Given the description of an element on the screen output the (x, y) to click on. 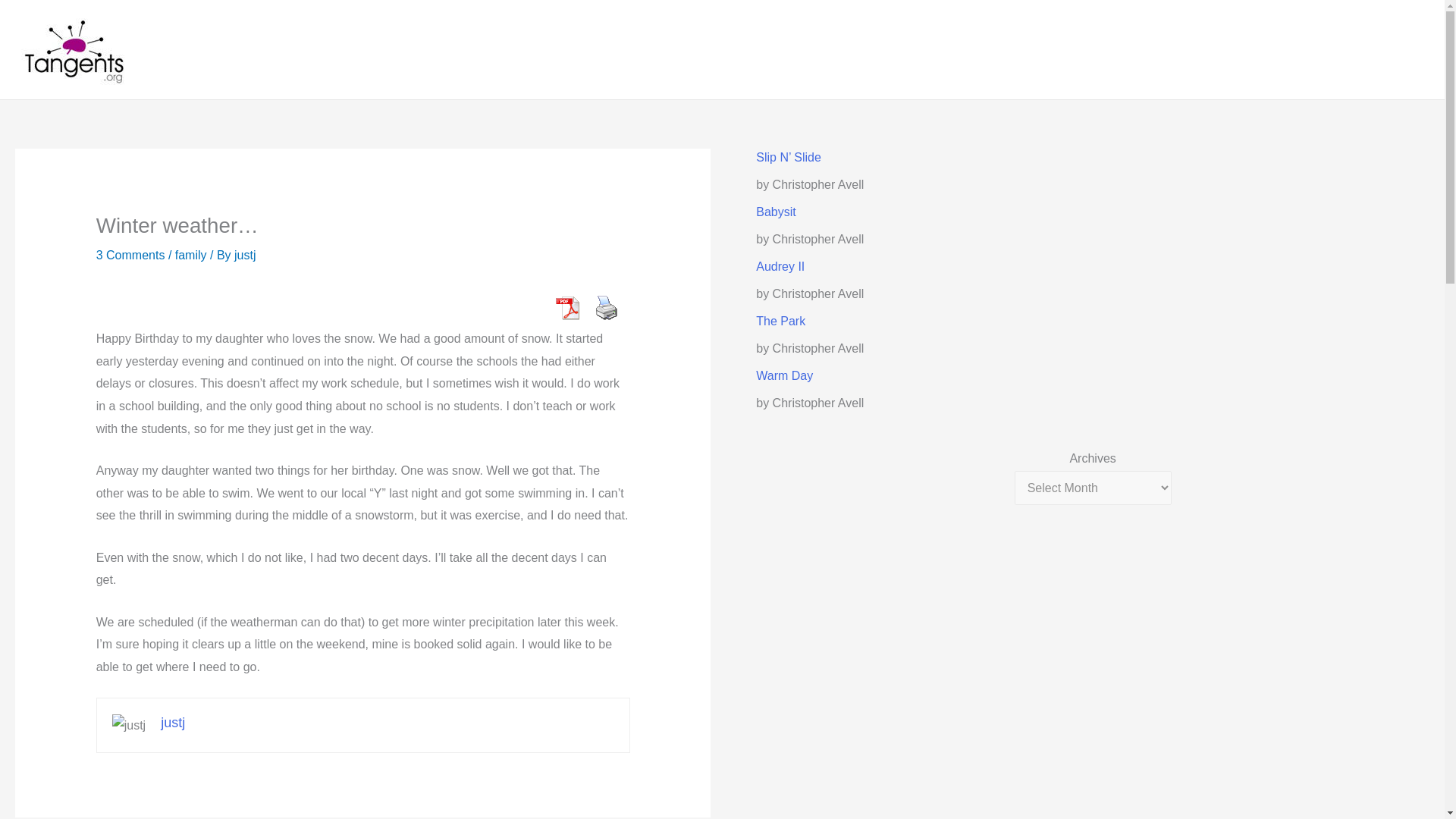
justj (172, 722)
3 Comments (130, 254)
View PDF (567, 307)
Audrey II (780, 266)
View all posts by justj (245, 254)
Babysit (774, 211)
Print Content (607, 307)
The Park (780, 320)
family (190, 254)
justj (245, 254)
Warm Day (783, 375)
